Given the description of an element on the screen output the (x, y) to click on. 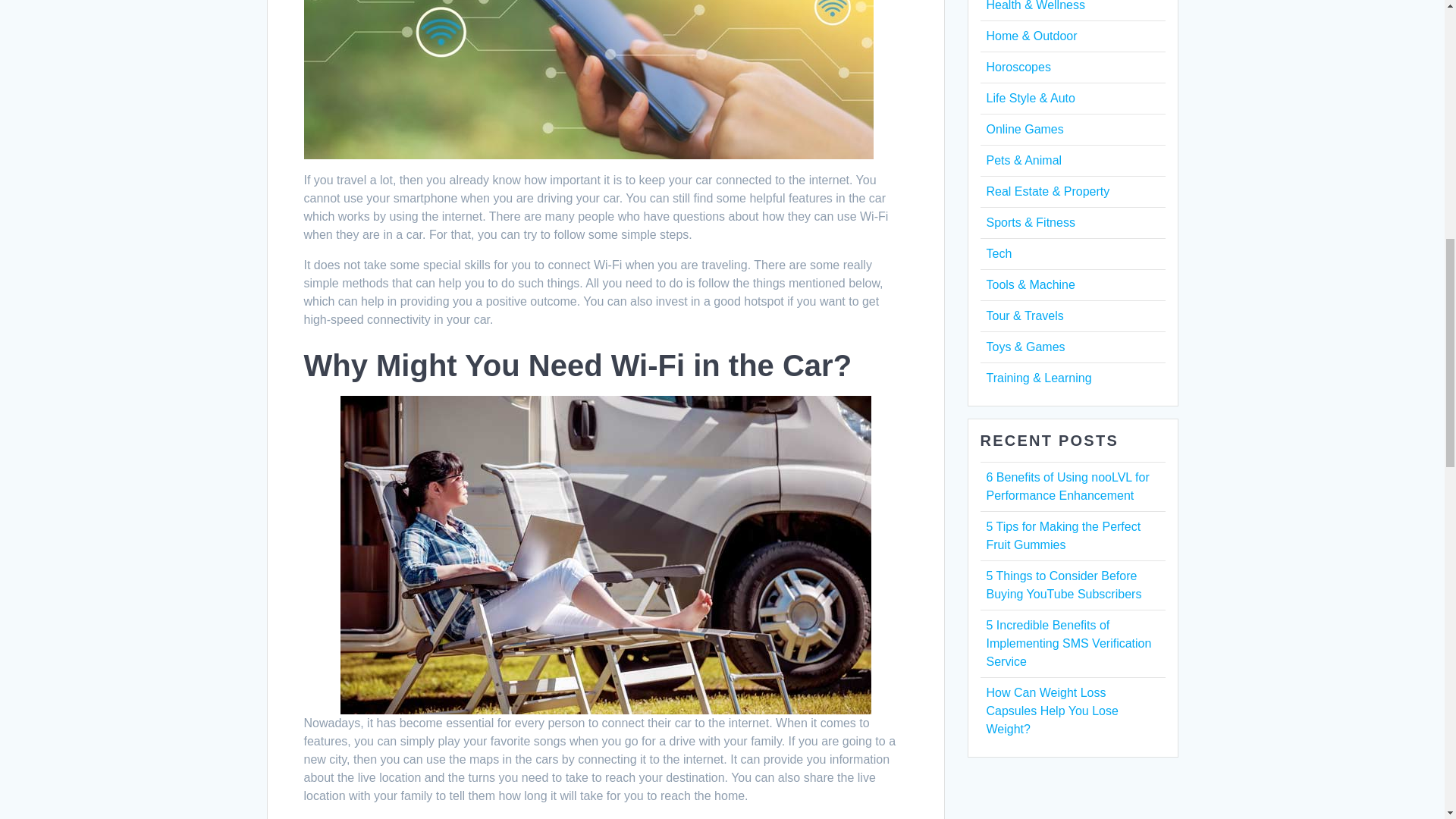
6 Benefits of Using nooLVL for Performance Enhancement (1066, 486)
Tech (998, 253)
Online Games (1023, 128)
5 Things to Consider Before Buying YouTube Subscribers (1063, 584)
5 Tips for Making the Perfect Fruit Gummies (1062, 535)
Horoscopes (1017, 66)
